Given the description of an element on the screen output the (x, y) to click on. 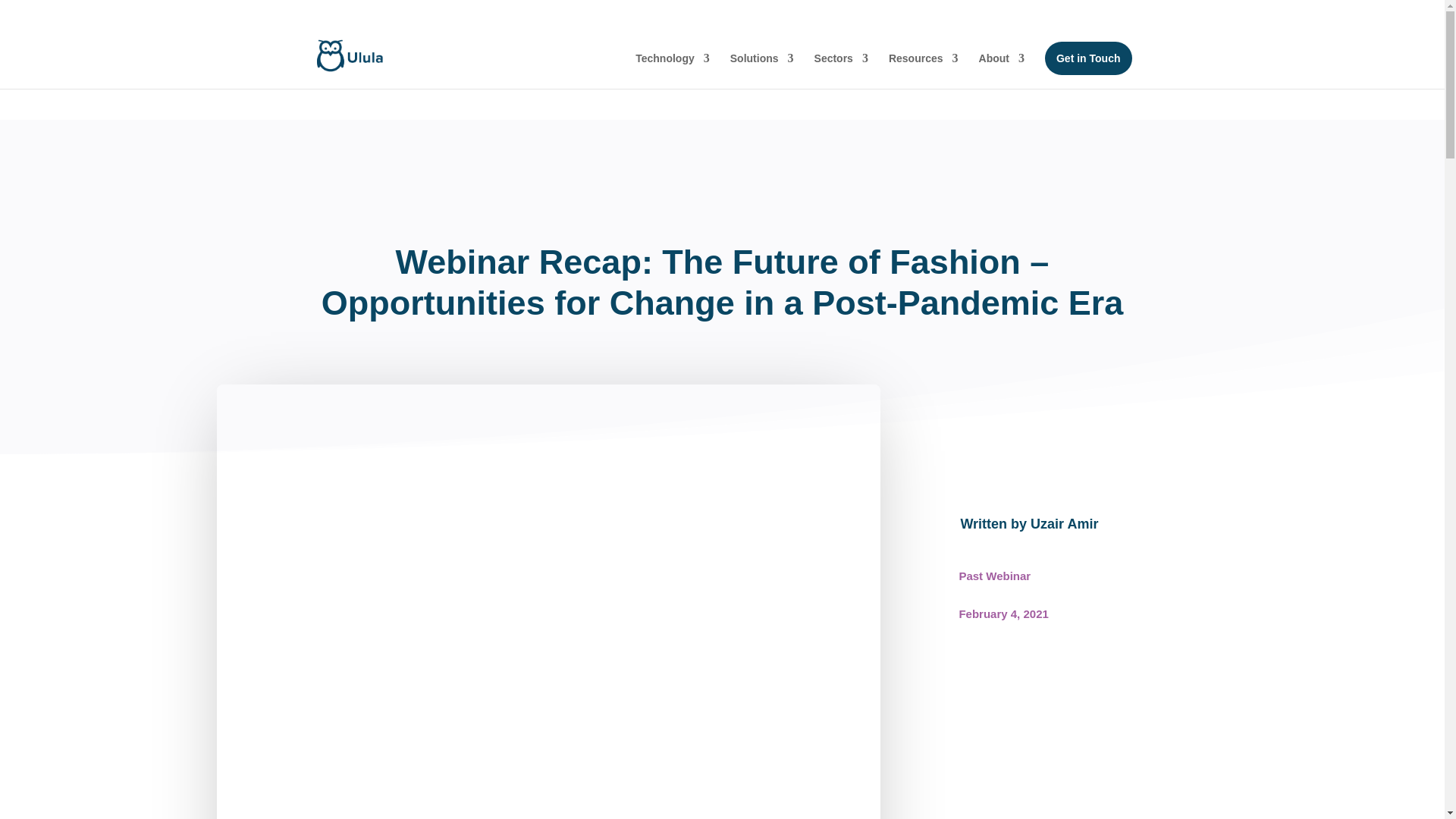
Solutions (761, 70)
About (1001, 70)
Resources (923, 70)
Sectors (840, 70)
Get in Touch (1088, 58)
Uzair Amir (1063, 523)
Past Webinar (994, 575)
Technology (672, 70)
